Given the description of an element on the screen output the (x, y) to click on. 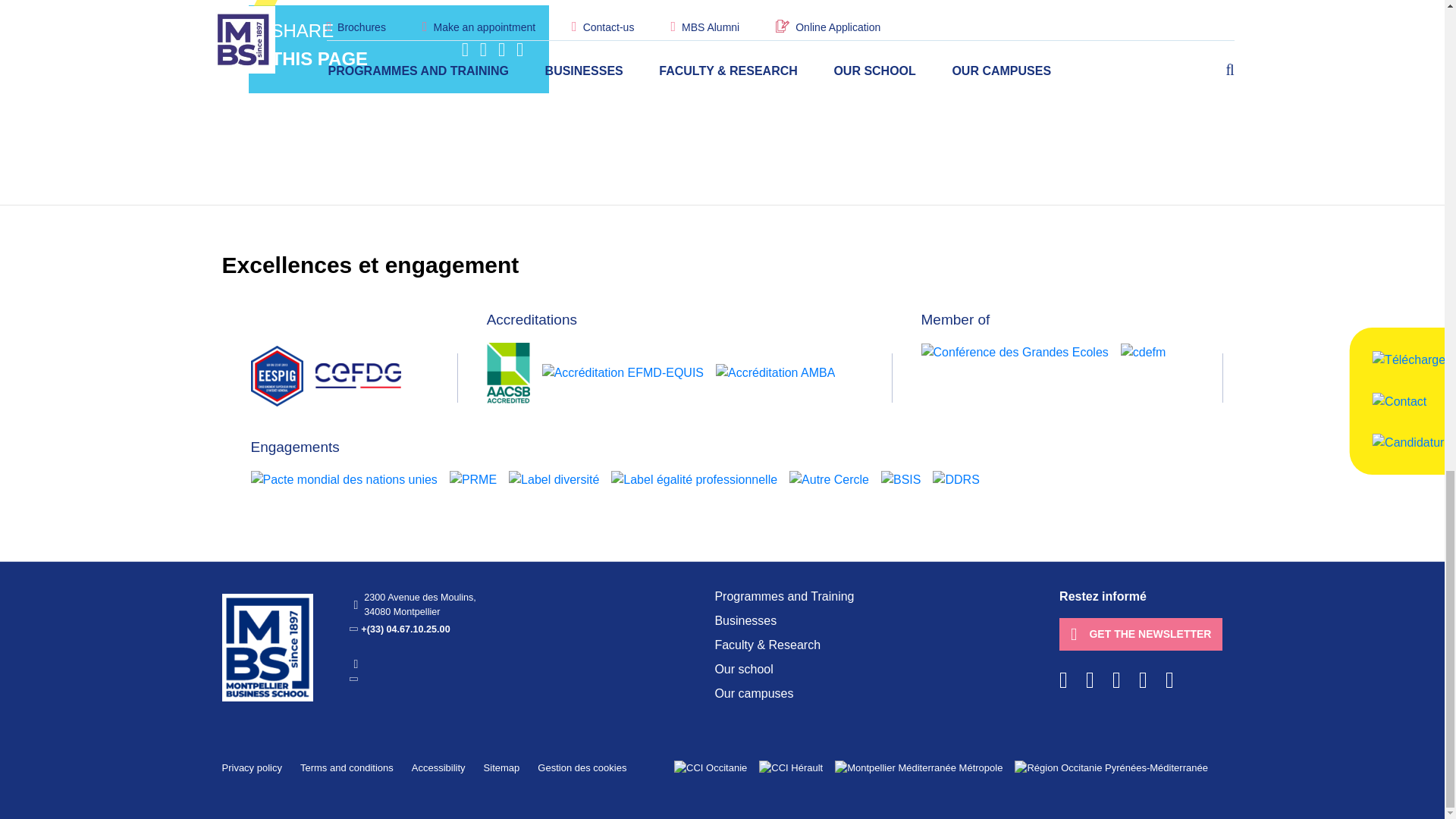
Go to the website "DDRS" (955, 479)
Go to the website "EESPIG" (276, 375)
Go to the website "CEFDG" (358, 375)
Go to the website "BSIS" (900, 479)
Go to the website "PRME" (472, 479)
Go to the website "Autre Cercle" (829, 479)
Go to the website "Pacte mondial des nations unies" (343, 479)
Go to the newsletter suscription form (1141, 634)
Go to the website "cdefm" (1143, 352)
